Given the description of an element on the screen output the (x, y) to click on. 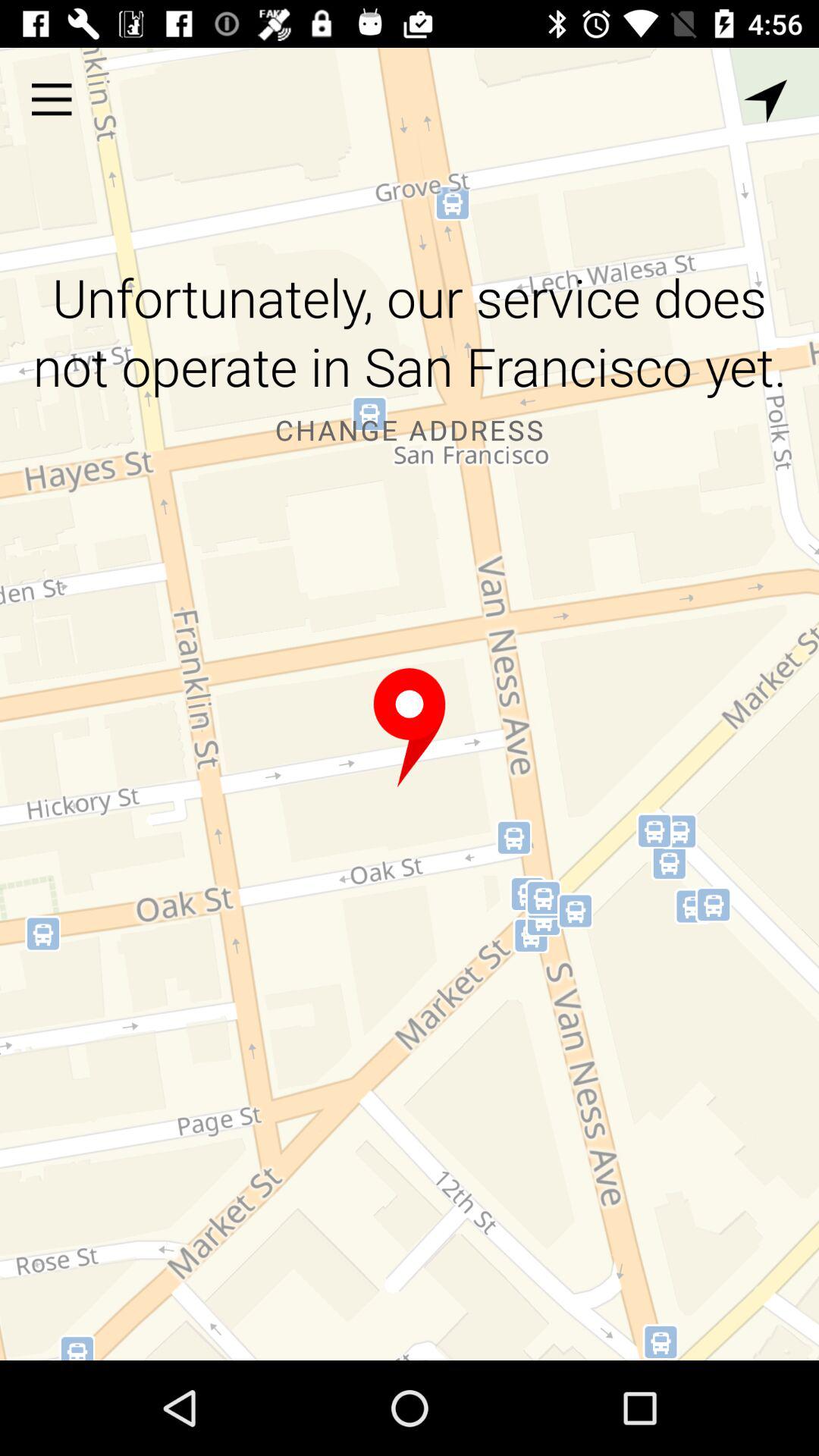
navigation (765, 100)
